Given the description of an element on the screen output the (x, y) to click on. 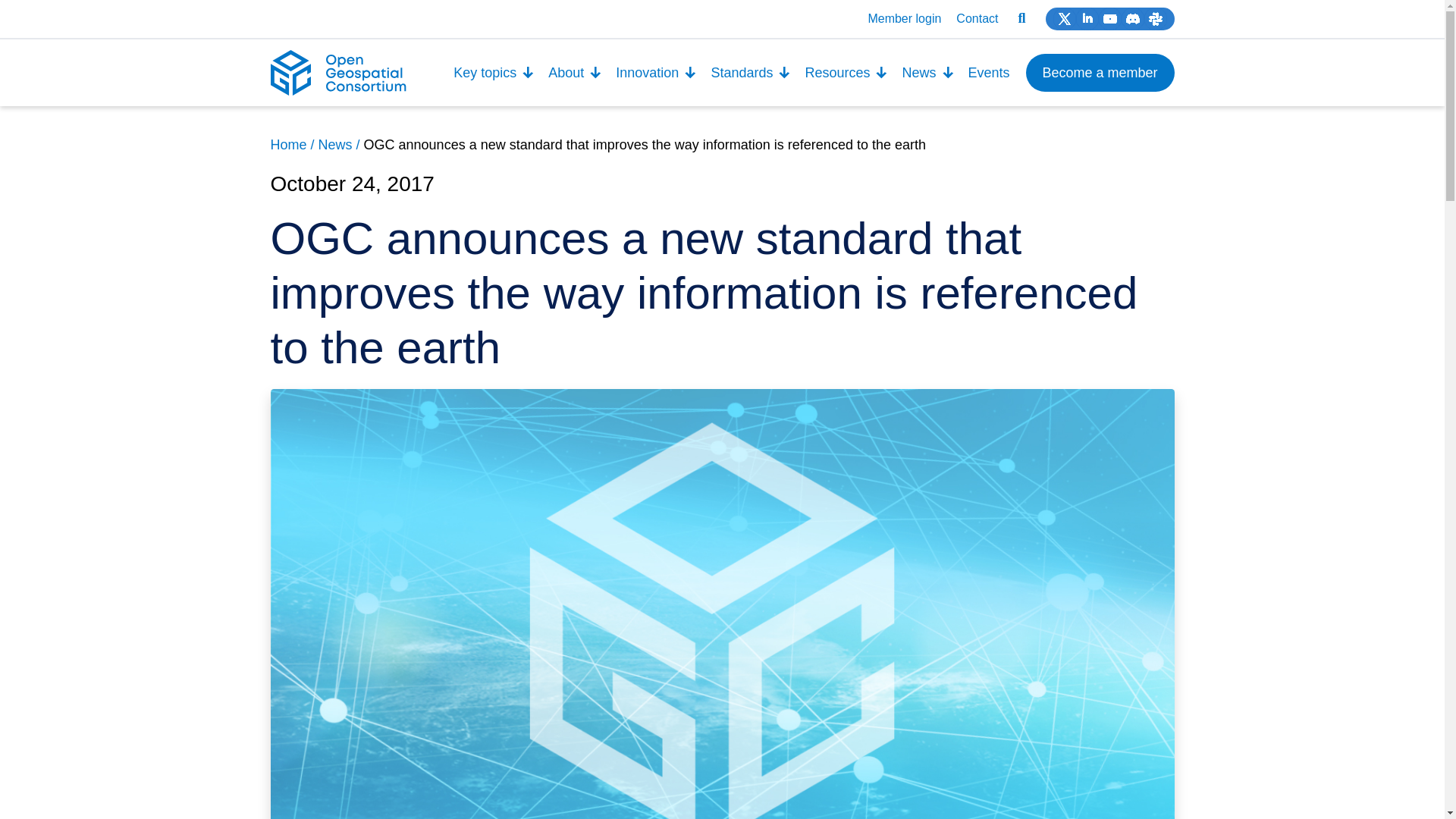
Contact (977, 18)
Member login (904, 18)
Innovation (655, 72)
Key topics (493, 72)
About (574, 72)
Standards (750, 72)
